Given the description of an element on the screen output the (x, y) to click on. 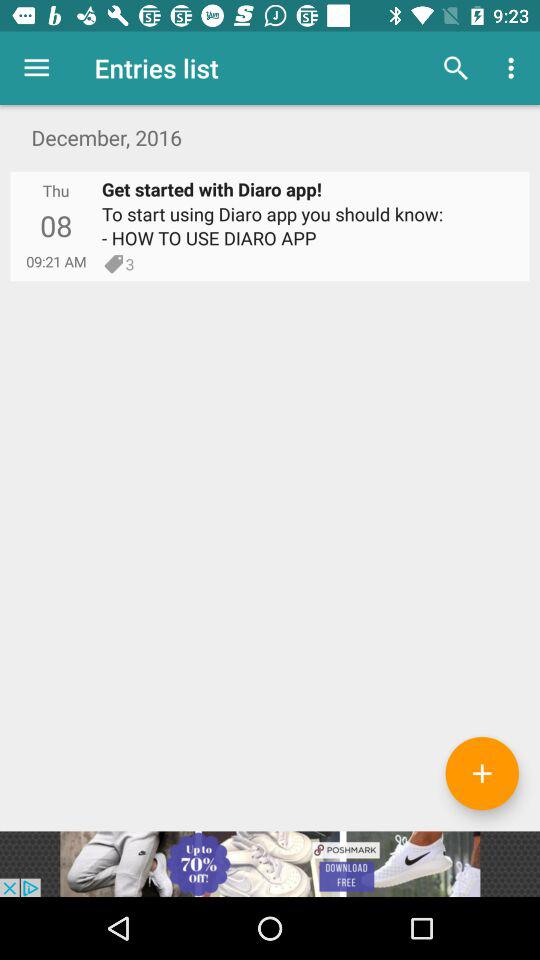
enter more text (482, 773)
